Given the description of an element on the screen output the (x, y) to click on. 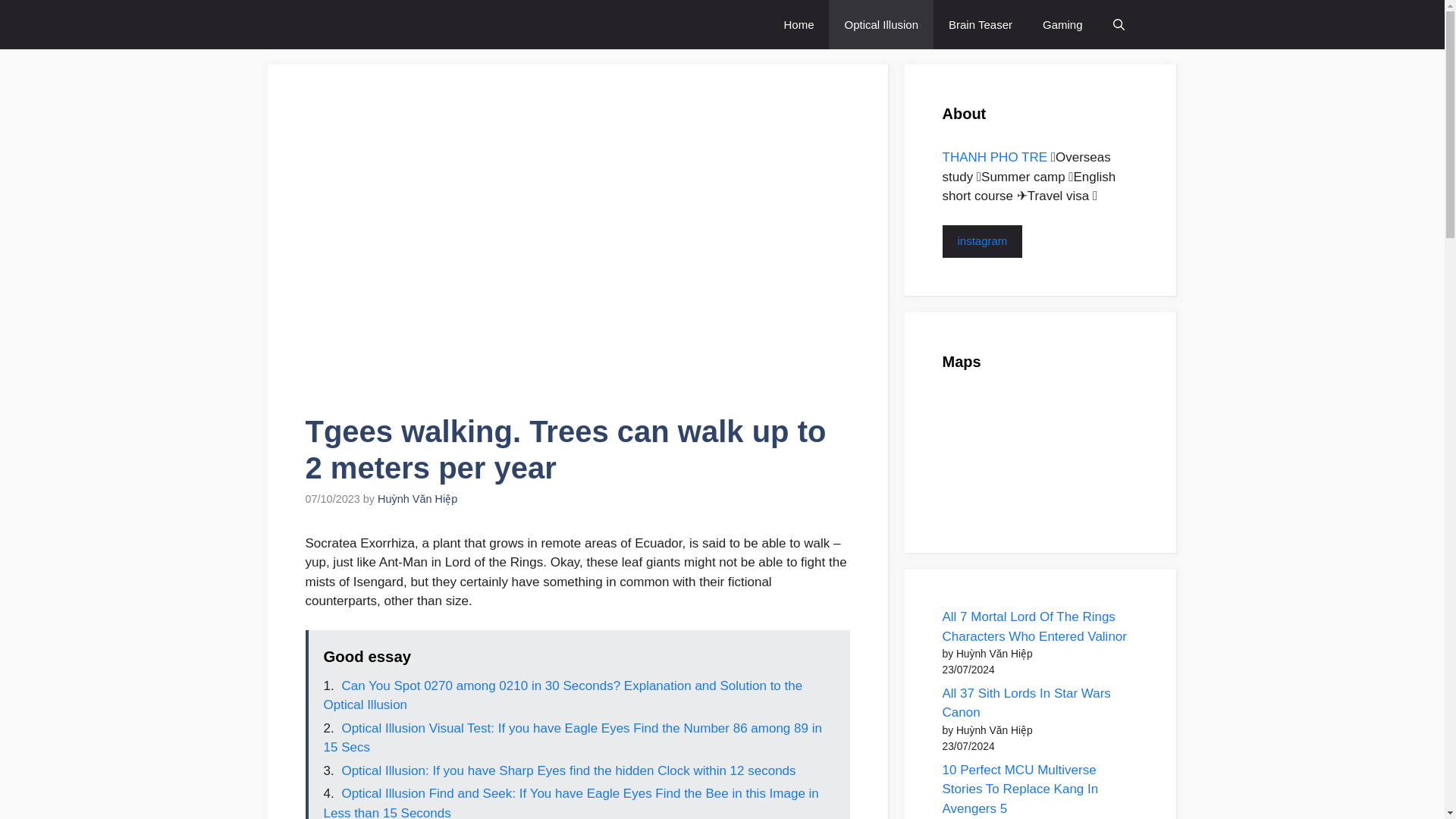
THANH PHO TRE (994, 156)
All 37 Sith Lords In Star Wars Canon (1025, 703)
THANH PHO TRE (400, 24)
instagram (982, 241)
Gaming (1062, 24)
Home (798, 24)
Brain Teaser (980, 24)
